Given the description of an element on the screen output the (x, y) to click on. 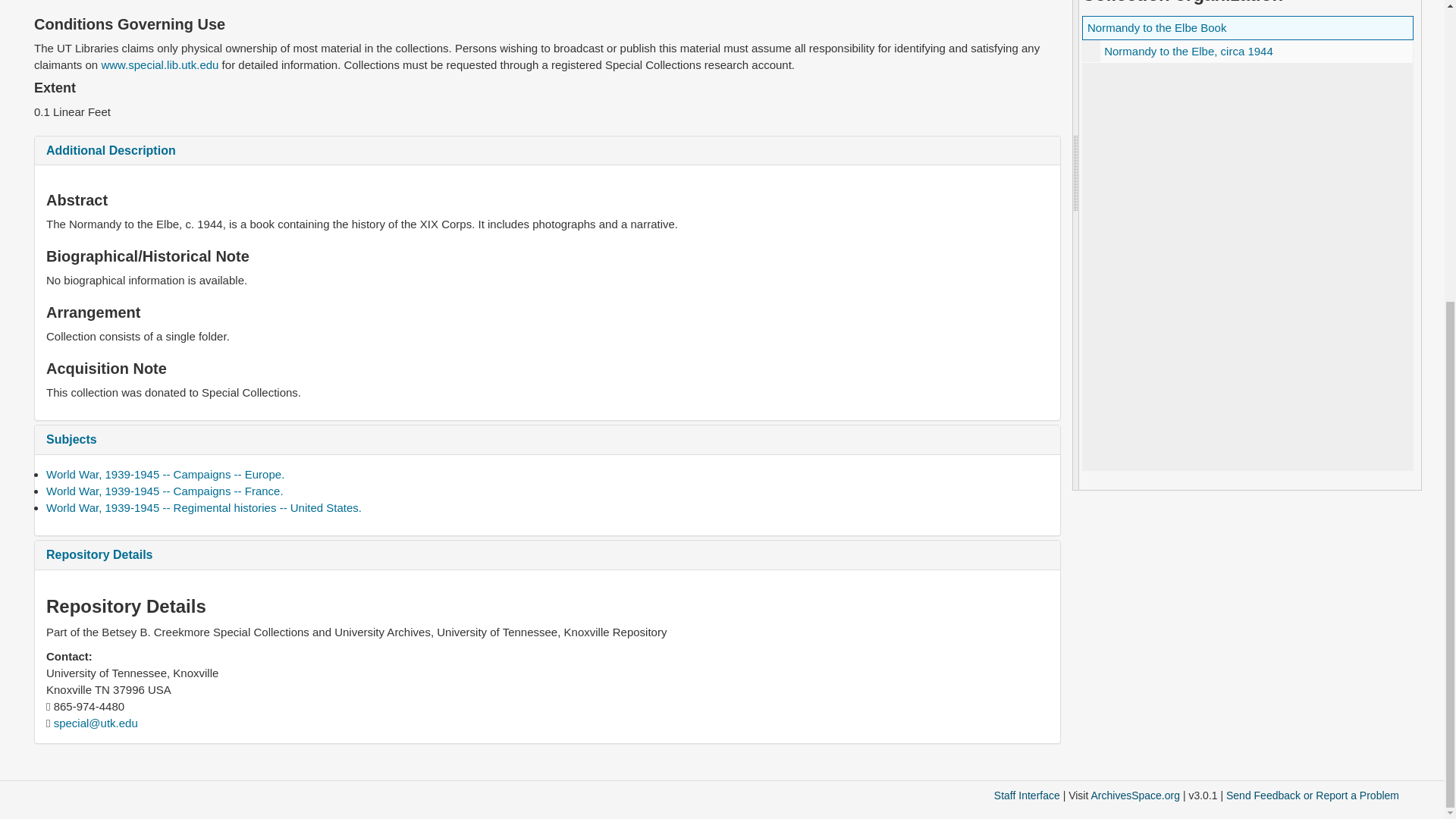
ArchivesSpace.org (1134, 795)
www.special.lib.utk.edu (159, 64)
Normandy to the Elbe, circa 1944 (1187, 51)
Normandy to the Elbe (1247, 51)
Staff Interface (1026, 795)
World War, 1939-1945 -- Campaigns -- Europe. (164, 473)
Normandy to the Elbe Book (1156, 27)
Subjects (71, 439)
Repository Details (99, 554)
Additional Description (111, 150)
Send email (95, 722)
World War, 1939-1945 -- Campaigns -- France. (164, 490)
